Given the description of an element on the screen output the (x, y) to click on. 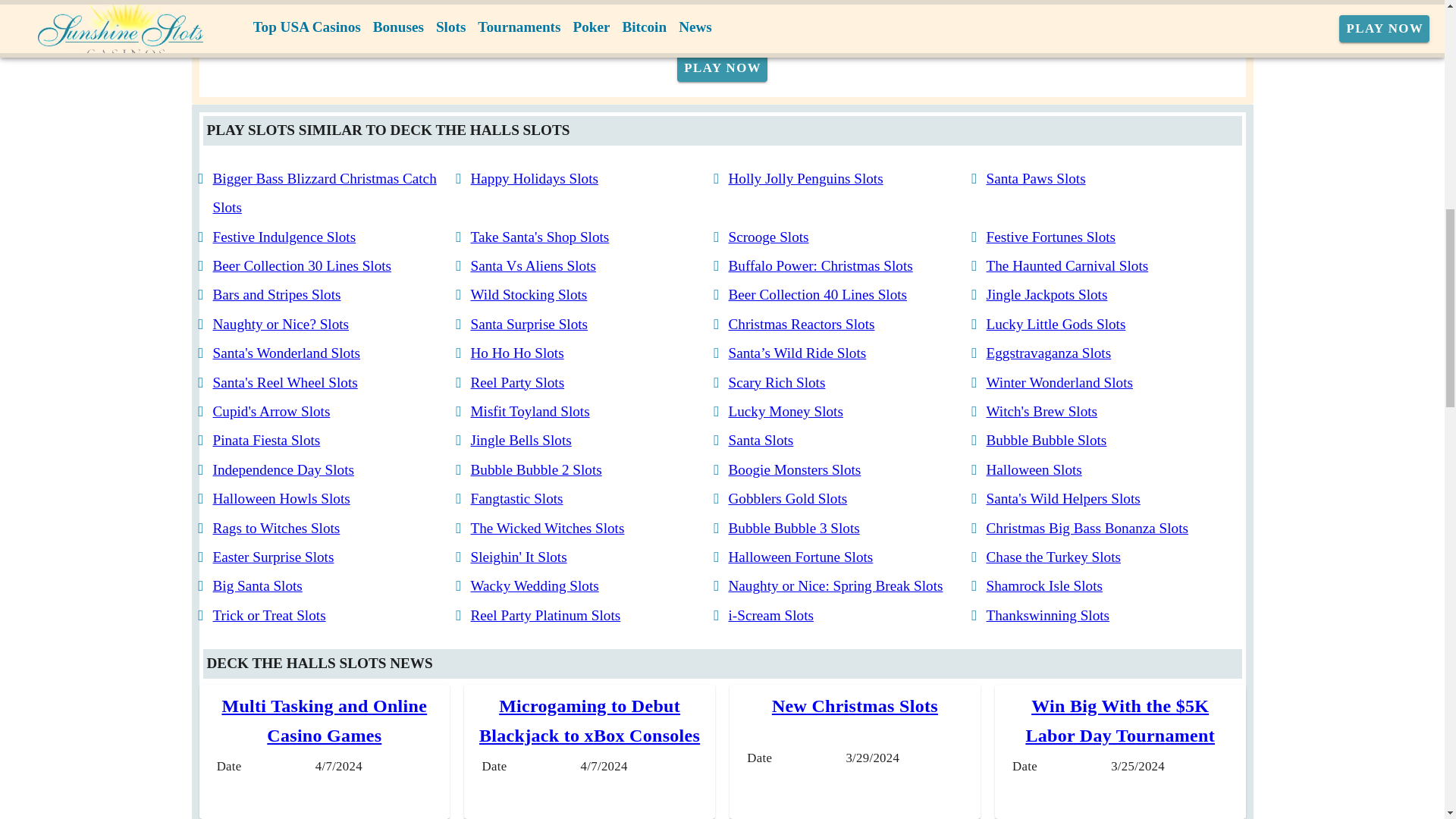
Festive Indulgence Slots (283, 236)
Santa Vs Aliens Slots (532, 265)
Bigger Bass Blizzard Christmas Catch Slots (323, 192)
Festive Fortunes Slots (1050, 236)
PLAY NOW (722, 67)
Buffalo Power: Christmas Slots (820, 265)
The Haunted Carnival Slots (1066, 265)
Beer Collection 30 Lines Slots (301, 265)
Christmas Slots (453, 26)
Santa Paws Slots (1034, 178)
Take Santa's Shop Slots (539, 236)
Scrooge Slots (768, 236)
Happy Holidays Slots (533, 178)
Holly Jolly Penguins Slots (805, 178)
